Given the description of an element on the screen output the (x, y) to click on. 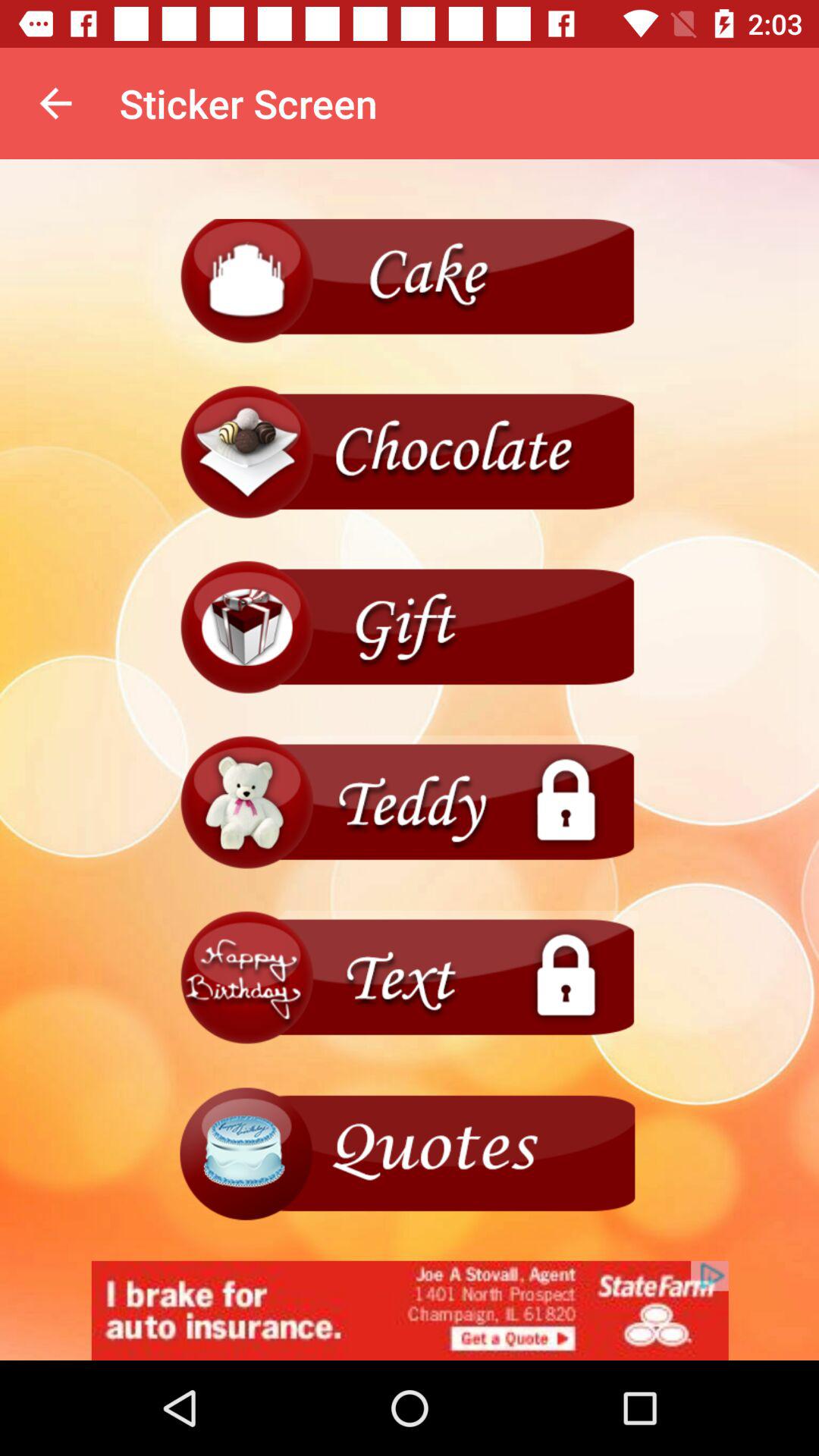
game page (409, 627)
